Given the description of an element on the screen output the (x, y) to click on. 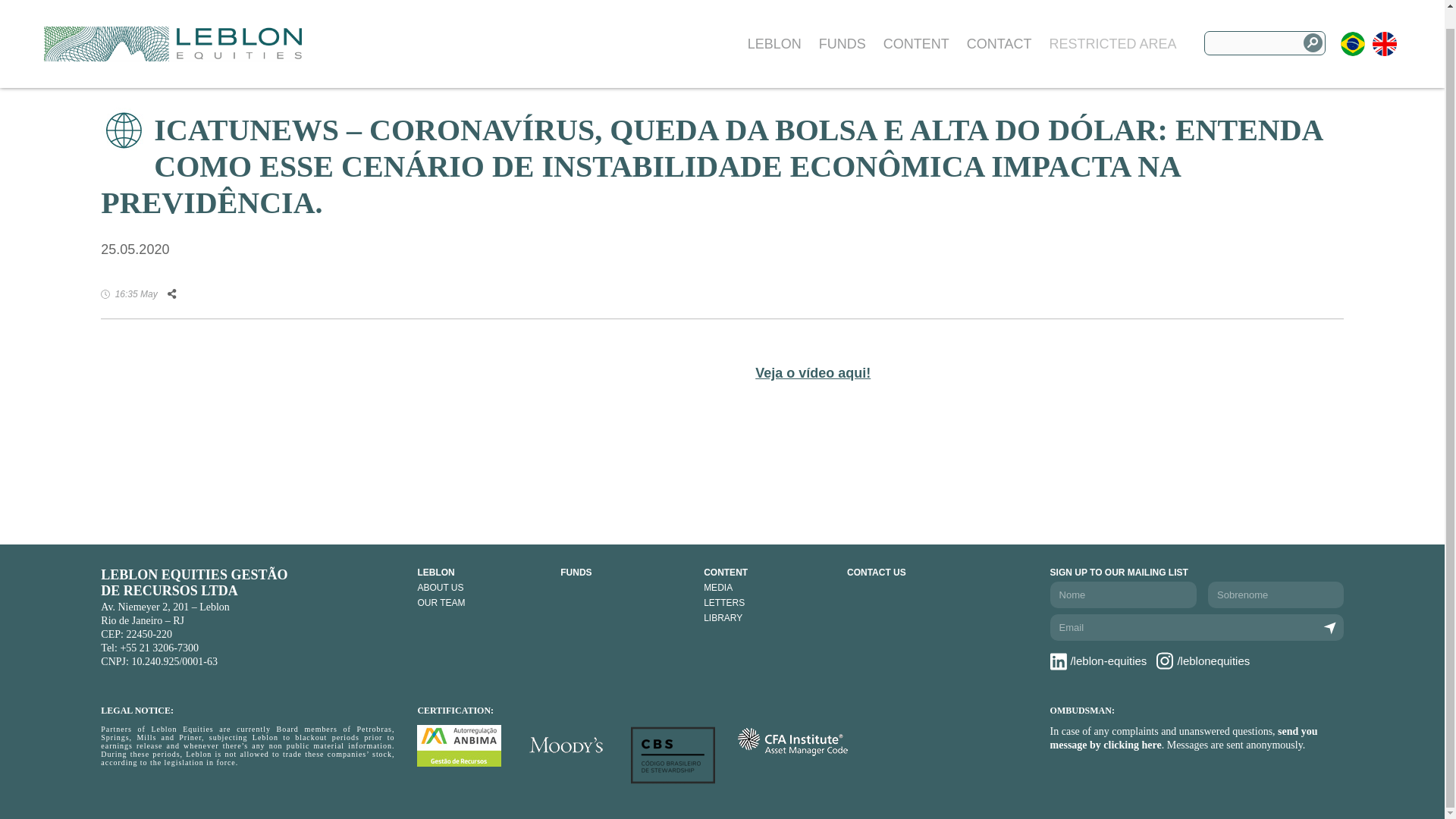
LEBLON (480, 572)
Enviar (1329, 627)
Search (1312, 24)
LEBLON (775, 25)
RESTRICTED AREA (1112, 25)
FUNDS (842, 25)
Search (1312, 24)
CONTENT (767, 572)
ABOUT US (480, 587)
Search (1312, 24)
